Given the description of an element on the screen output the (x, y) to click on. 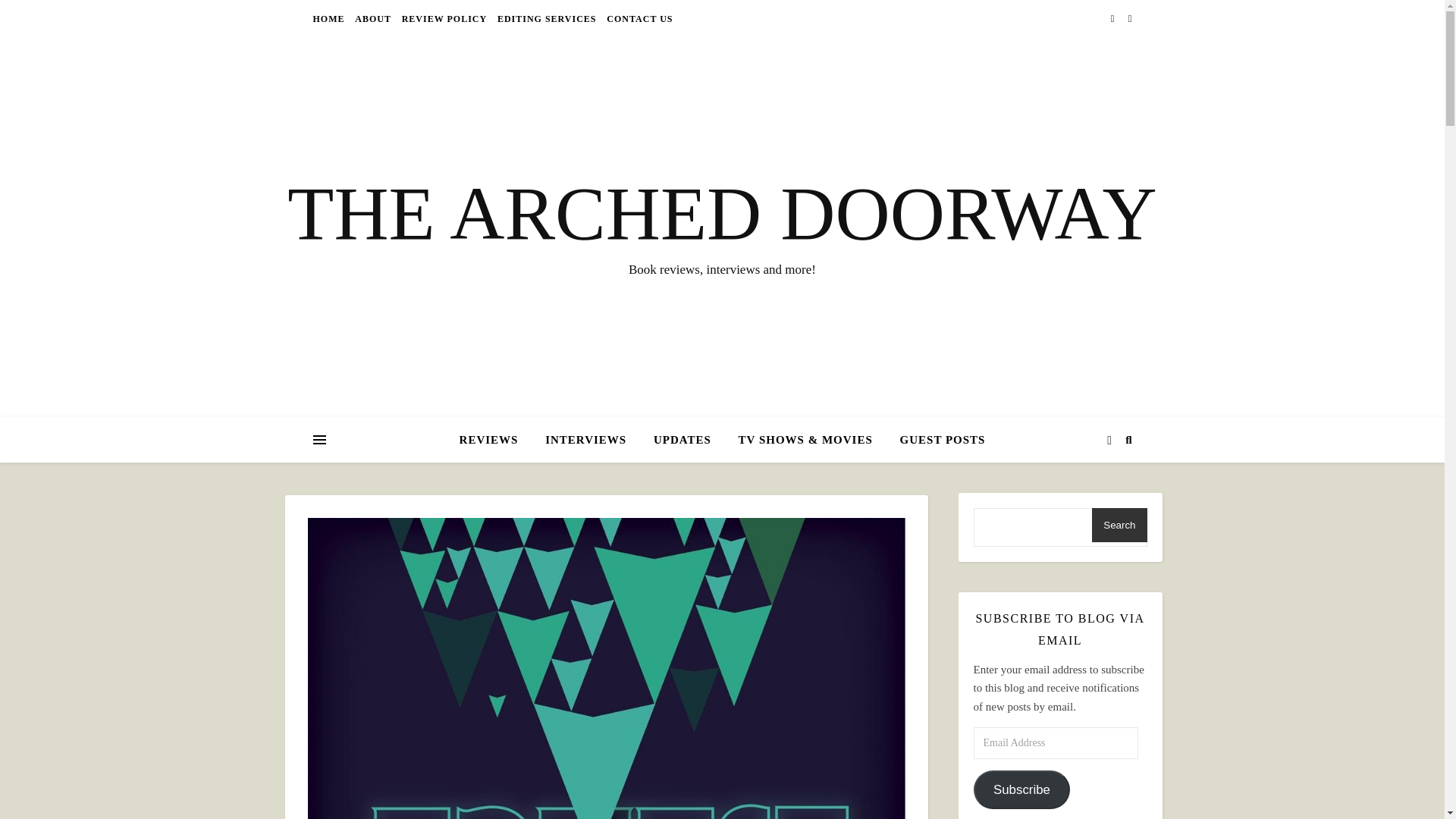
REVIEWS (495, 439)
EDITING SERVICES (546, 18)
CONTACT US (637, 18)
UPDATES (682, 439)
HOME (330, 18)
REVIEW POLICY (443, 18)
GUEST POSTS (936, 439)
ABOUT (372, 18)
INTERVIEWS (585, 439)
